Given the description of an element on the screen output the (x, y) to click on. 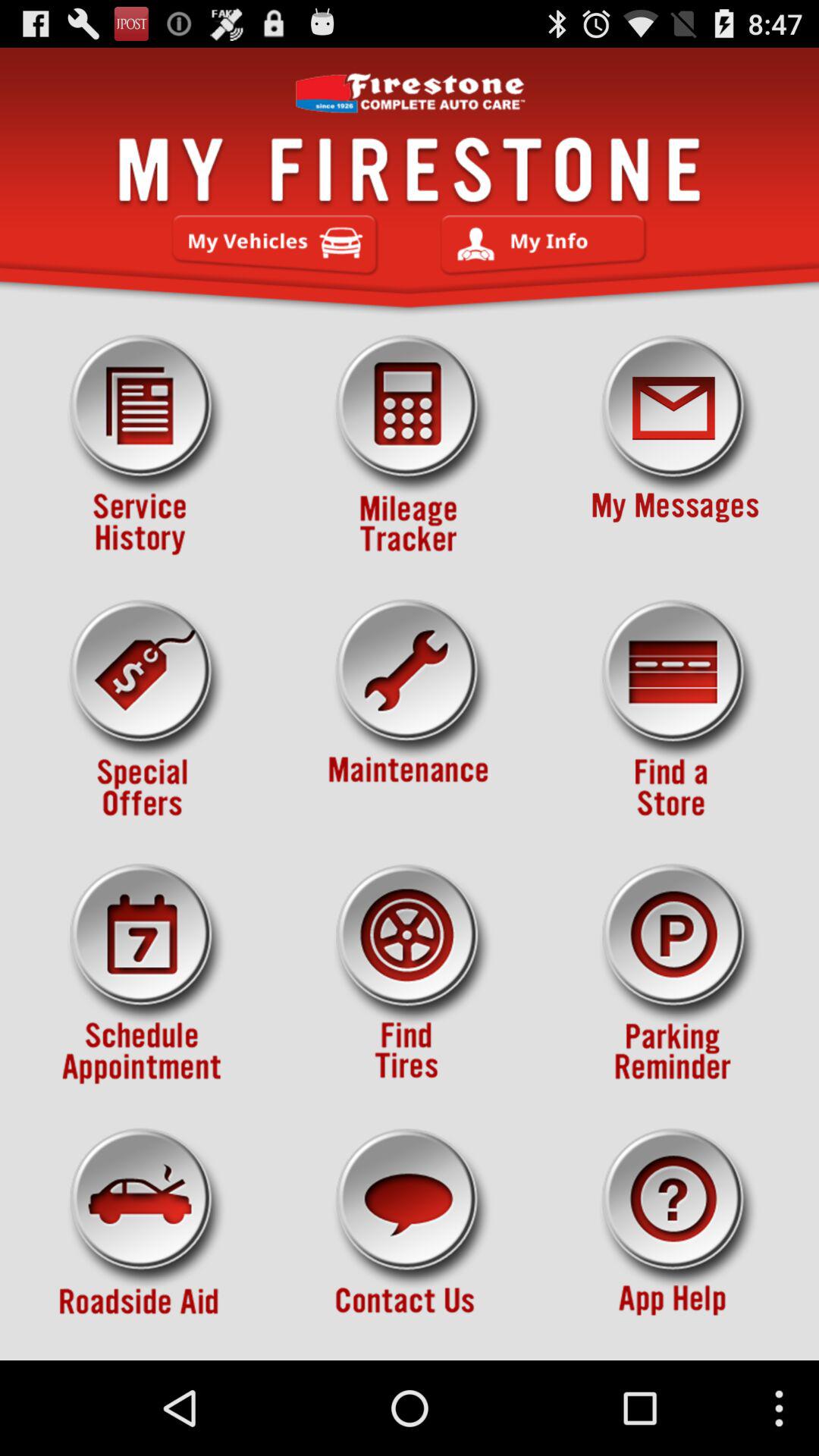
check your messages (675, 445)
